Given the description of an element on the screen output the (x, y) to click on. 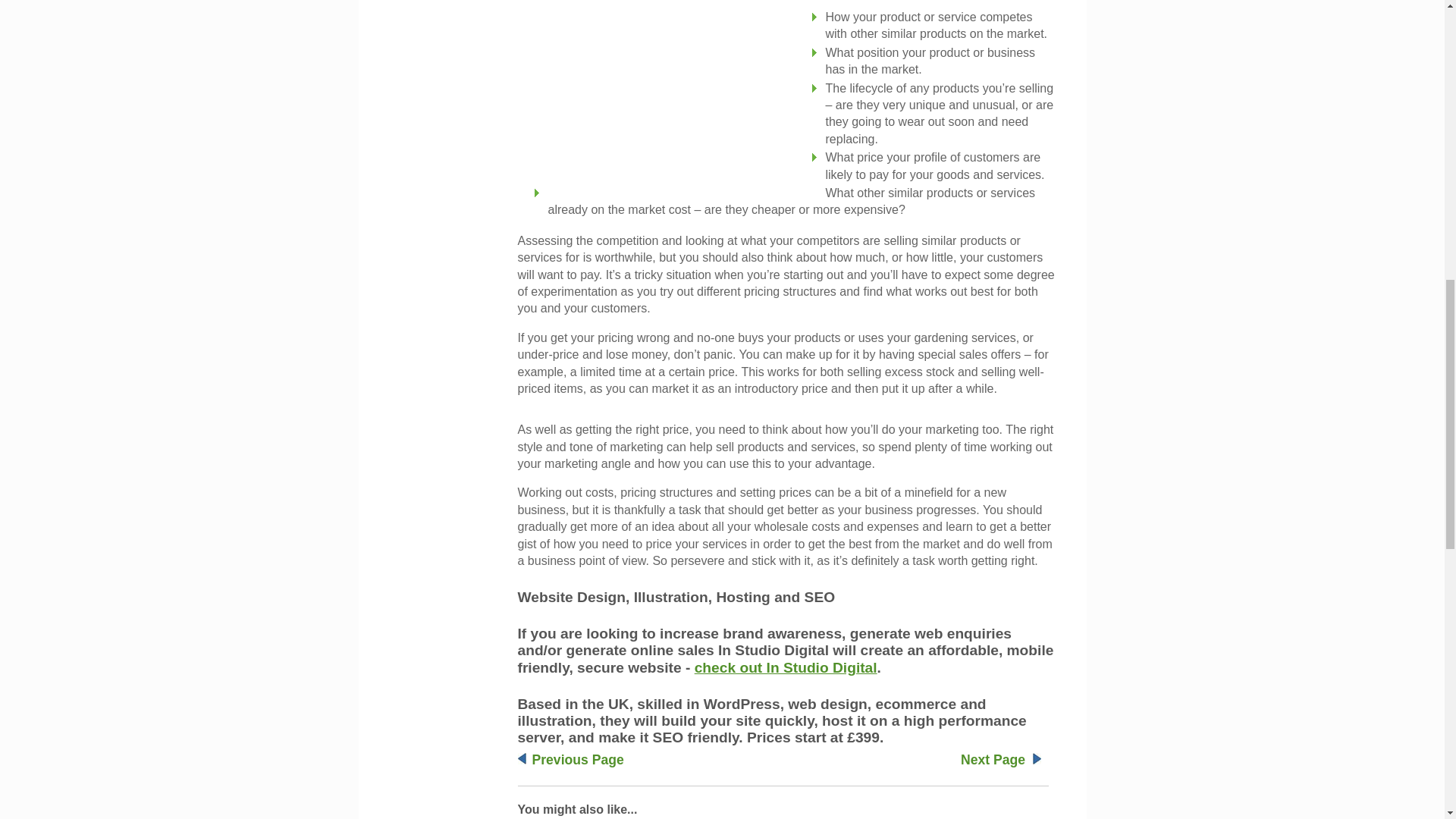
Advertisement (674, 83)
Previous Page (578, 759)
Next Page (992, 759)
check out In Studio Digital (785, 667)
